Given the description of an element on the screen output the (x, y) to click on. 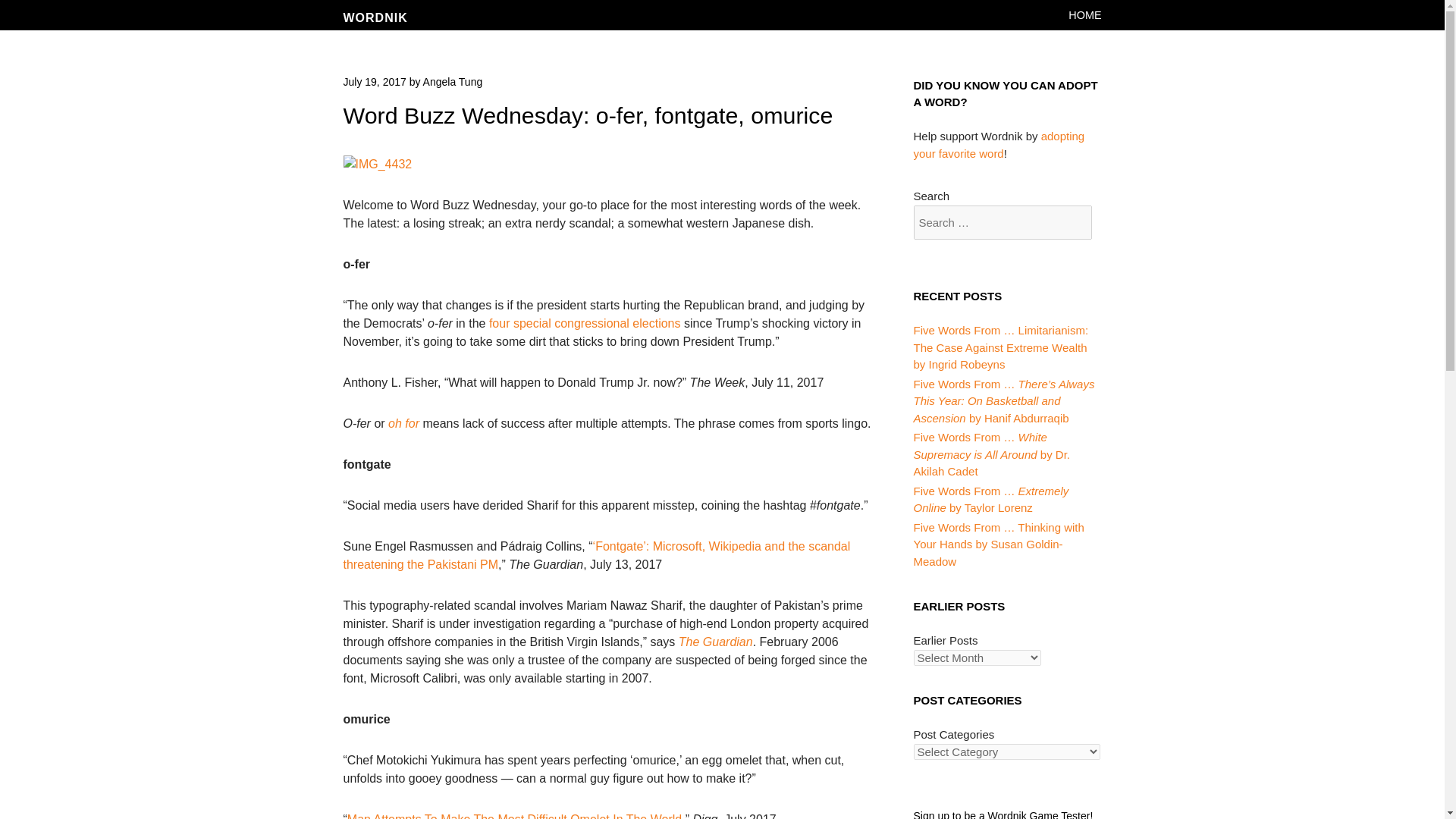
oh for (403, 422)
HOME (1084, 15)
Wordnik (374, 17)
SKIP TO CONTENT (1098, 15)
Skip to content (1098, 15)
Man Attempts To Make The Most Difficult Omelet In The World (514, 816)
four special congressional elections (585, 323)
The Guardian (715, 641)
July 19, 2017 (374, 81)
5:55 am (374, 81)
adopting your favorite word (998, 144)
Angela Tung (453, 81)
View all posts by Angela Tung (453, 81)
Search (46, 9)
WORDNIK (374, 17)
